Given the description of an element on the screen output the (x, y) to click on. 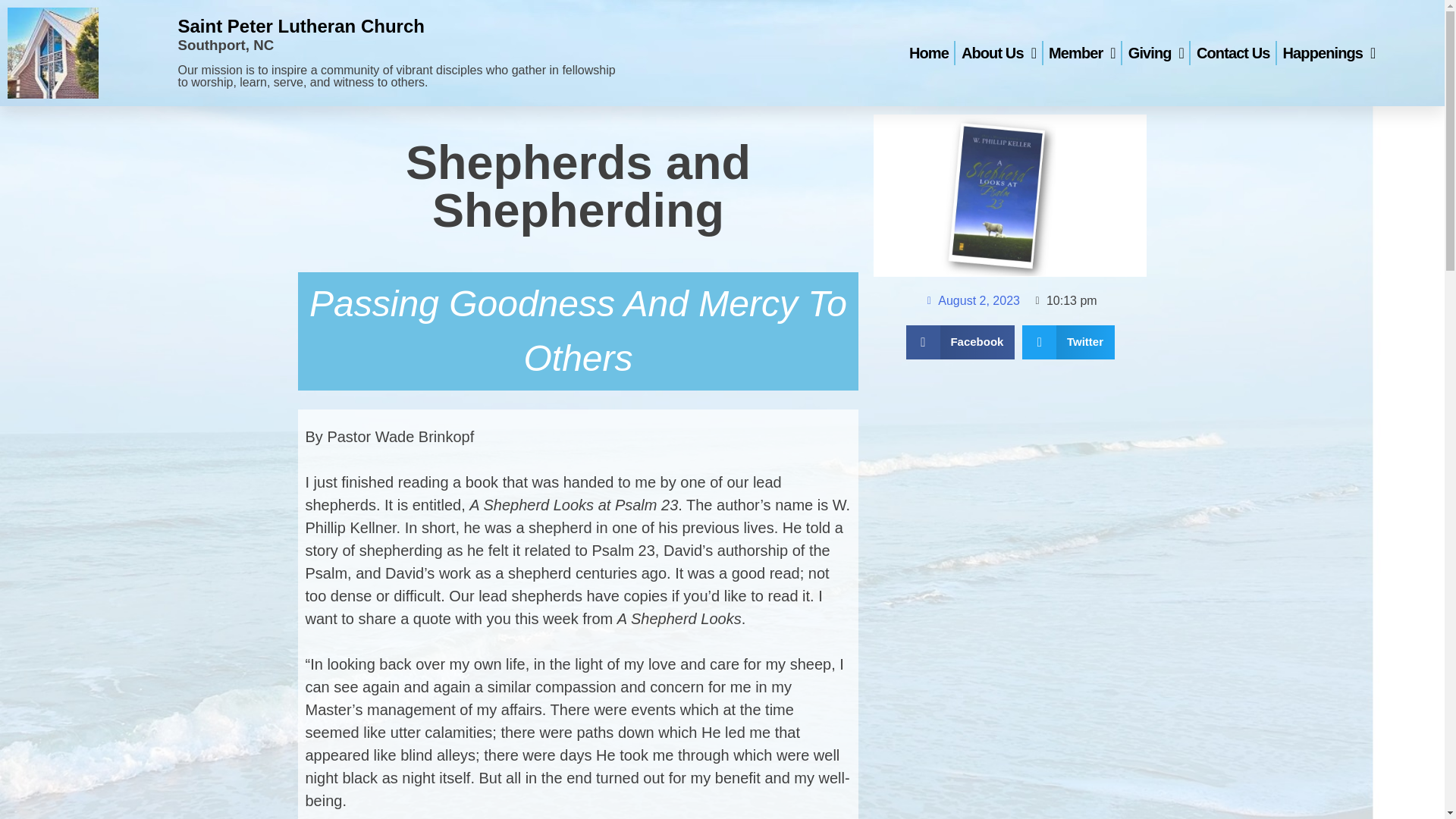
Contact Us (1232, 52)
Member (1081, 52)
Saint Peter Lutheran Church (300, 25)
Happenings (1328, 52)
About Us (997, 52)
